Given the description of an element on the screen output the (x, y) to click on. 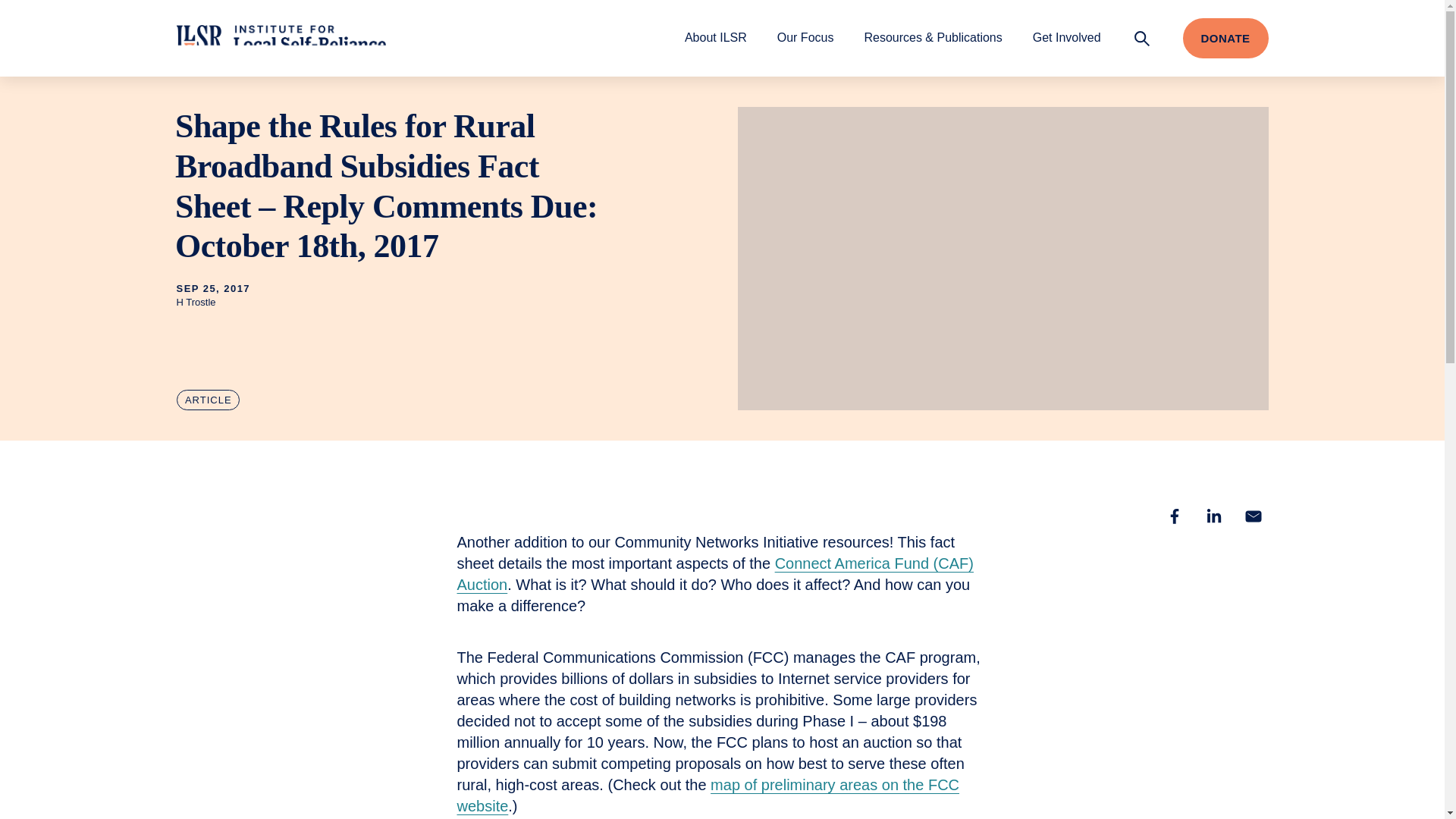
About ILSR (715, 37)
DONATE (1225, 38)
ARTICLE (208, 399)
EMAIL (1252, 516)
SEARCH (1142, 37)
link to map (708, 795)
ILSR (280, 38)
Our Focus (805, 37)
Get Involved (1066, 37)
